Given the description of an element on the screen output the (x, y) to click on. 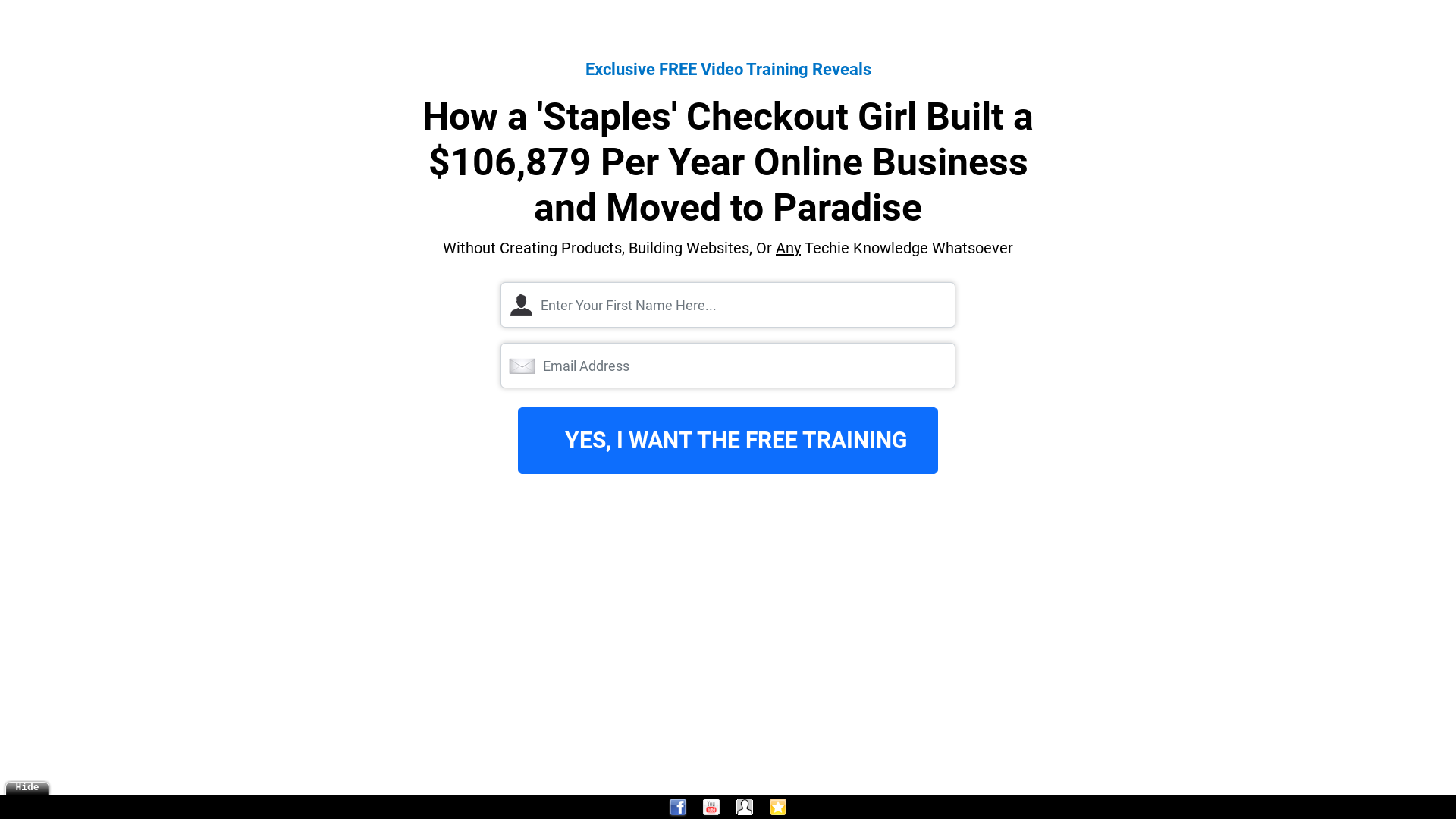
   YES, I WANT THE FREE TRAINING Element type: text (727, 440)
Click Here To Make This Page A Bookmark/Favorite! Element type: hover (777, 807)
Hide Element type: text (26, 787)
